Given the description of an element on the screen output the (x, y) to click on. 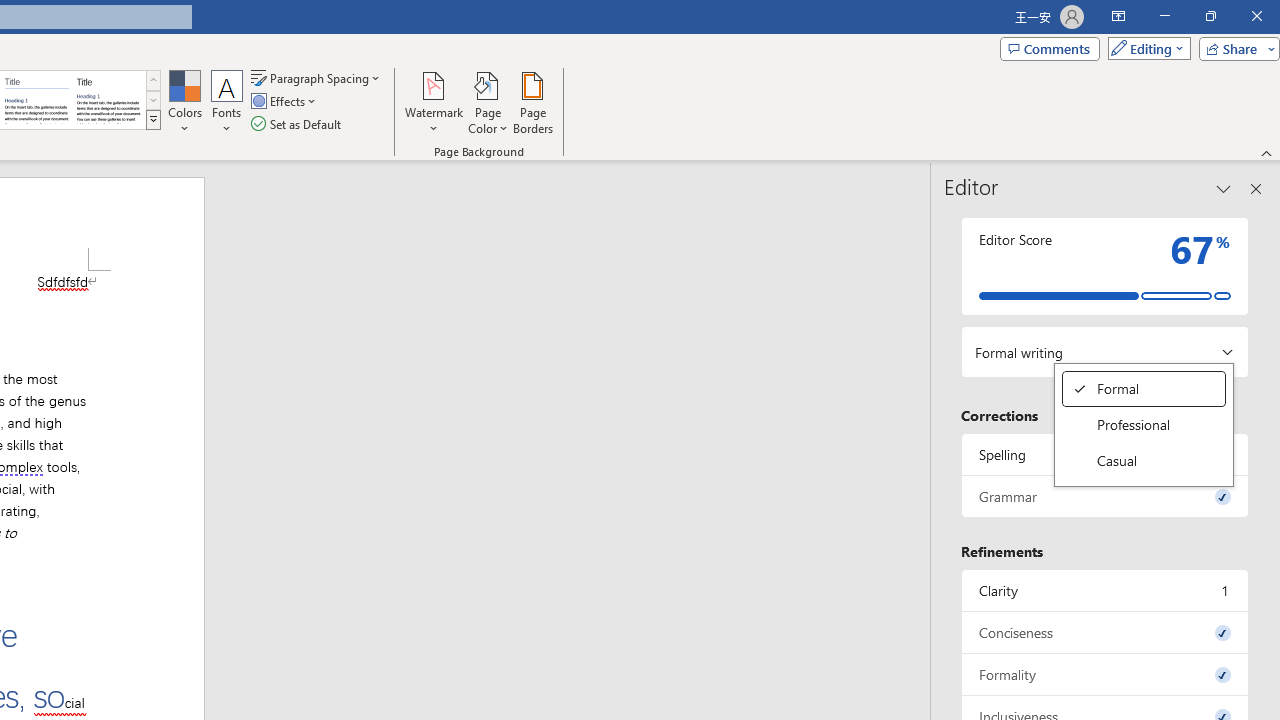
Colors (184, 102)
Paragraph Spacing (317, 78)
Effects (285, 101)
Watermark (434, 102)
Class: Net UI Tool Window (1143, 424)
Style Set (1144, 460)
Word 2013 (153, 120)
Conciseness, 0 issues. Press space or enter to review items. (108, 100)
Page Color (1105, 632)
